Given the description of an element on the screen output the (x, y) to click on. 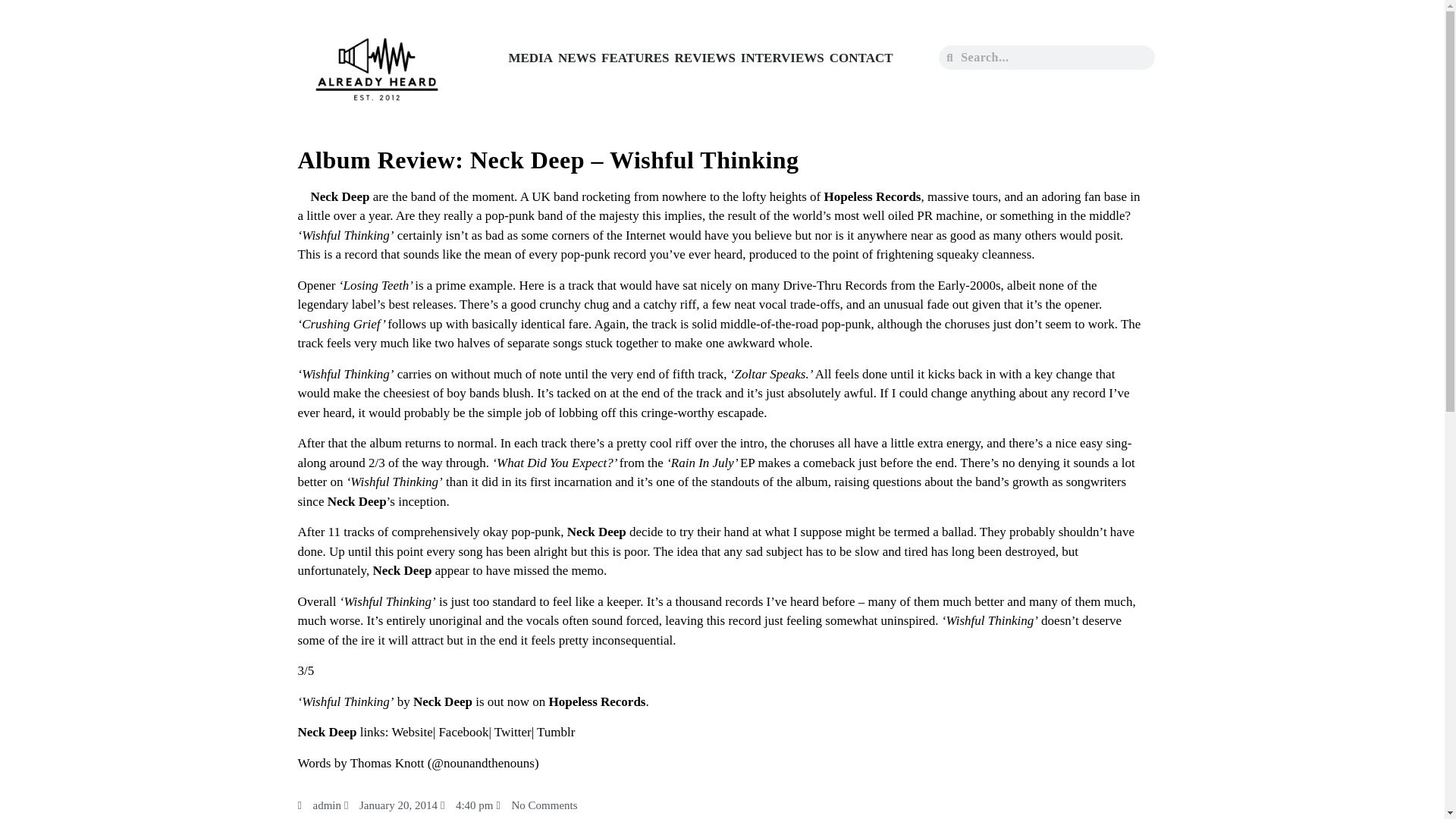
FEATURES (634, 57)
MEDIA (529, 57)
NEWS (577, 57)
